Given the description of an element on the screen output the (x, y) to click on. 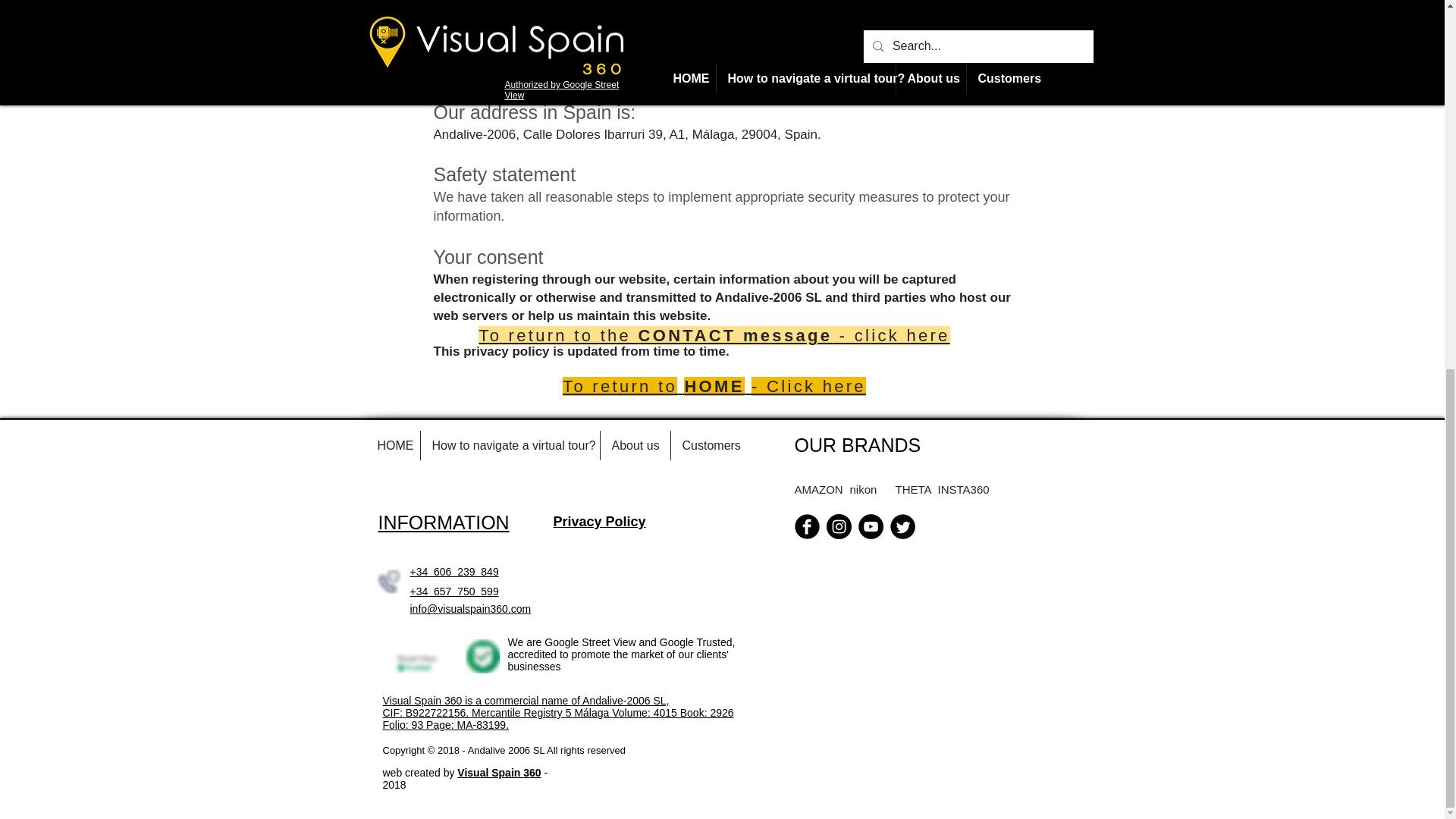
HOME (392, 445)
How to navigate a virtual tour? (509, 445)
About us (634, 445)
To return to the CONTACT message - click here (714, 334)
To return to HOME - Click here (714, 385)
